Given the description of an element on the screen output the (x, y) to click on. 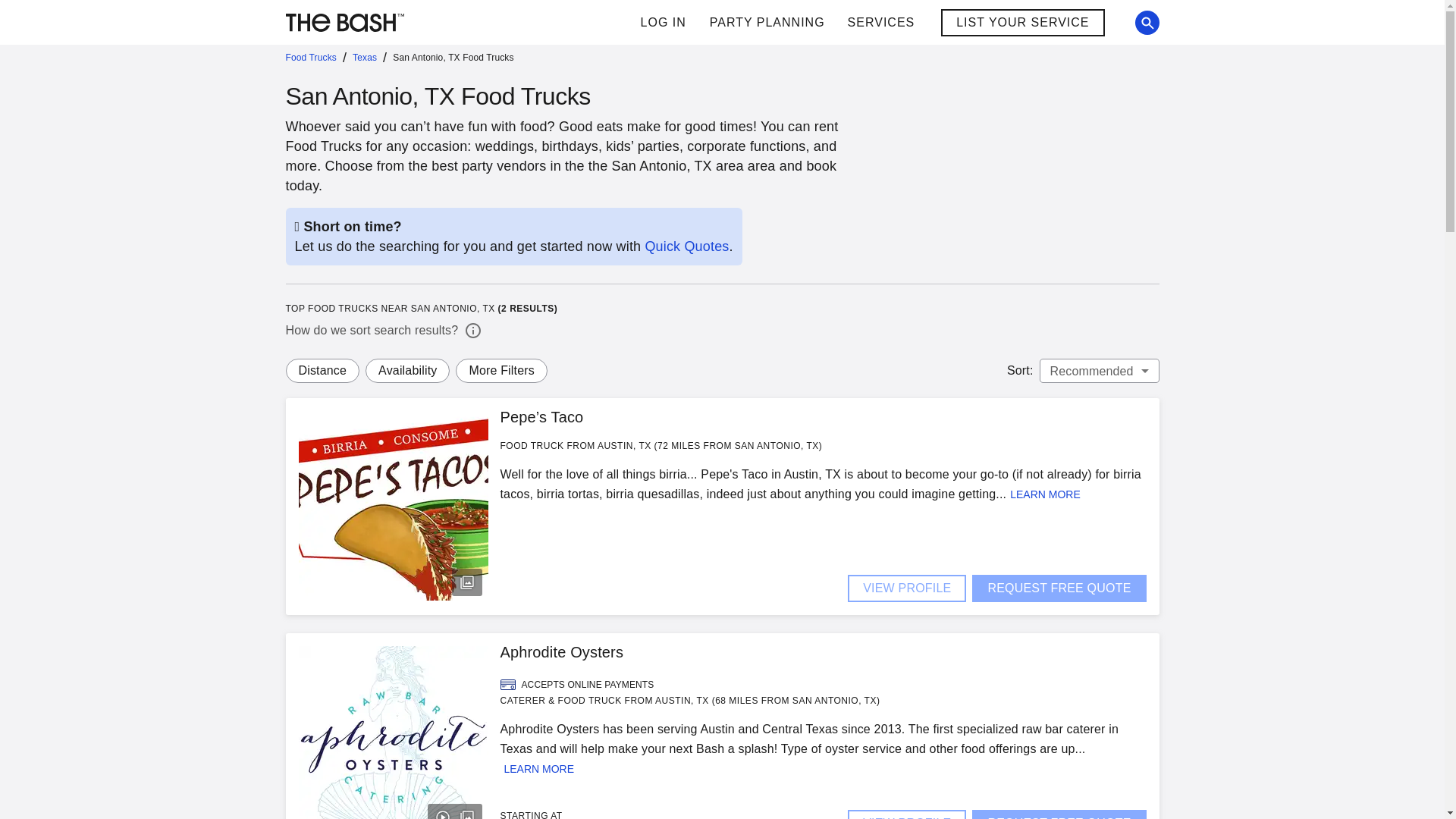
LOG IN (662, 22)
LIST YOUR SERVICE (812, 22)
